Given the description of an element on the screen output the (x, y) to click on. 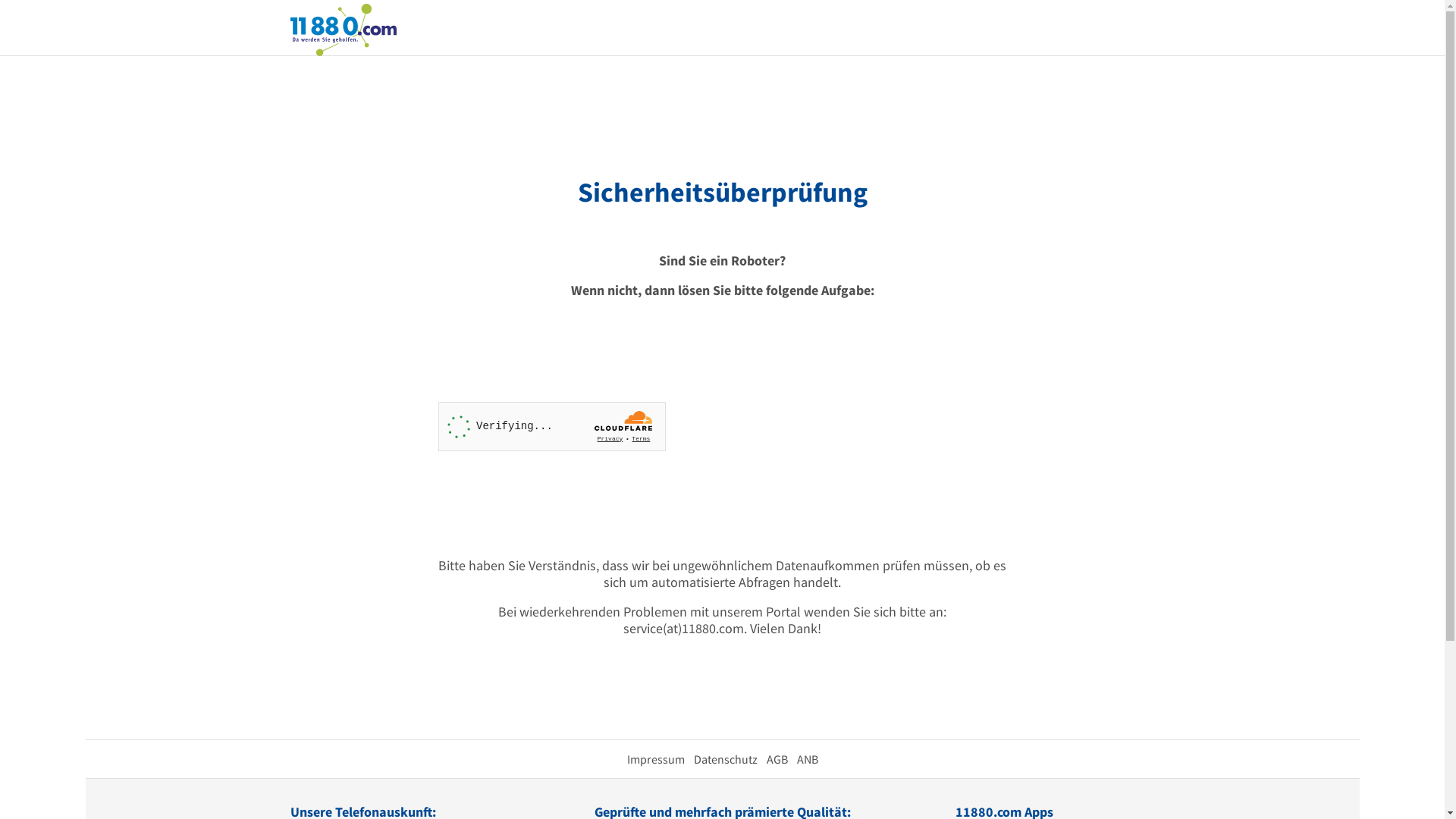
Impressum Element type: text (655, 758)
AGB Element type: text (776, 758)
Widget containing a Cloudflare security challenge Element type: hover (551, 426)
Datenschutz Element type: text (724, 758)
ANB Element type: text (806, 758)
11880.com Element type: hover (342, 28)
